Given the description of an element on the screen output the (x, y) to click on. 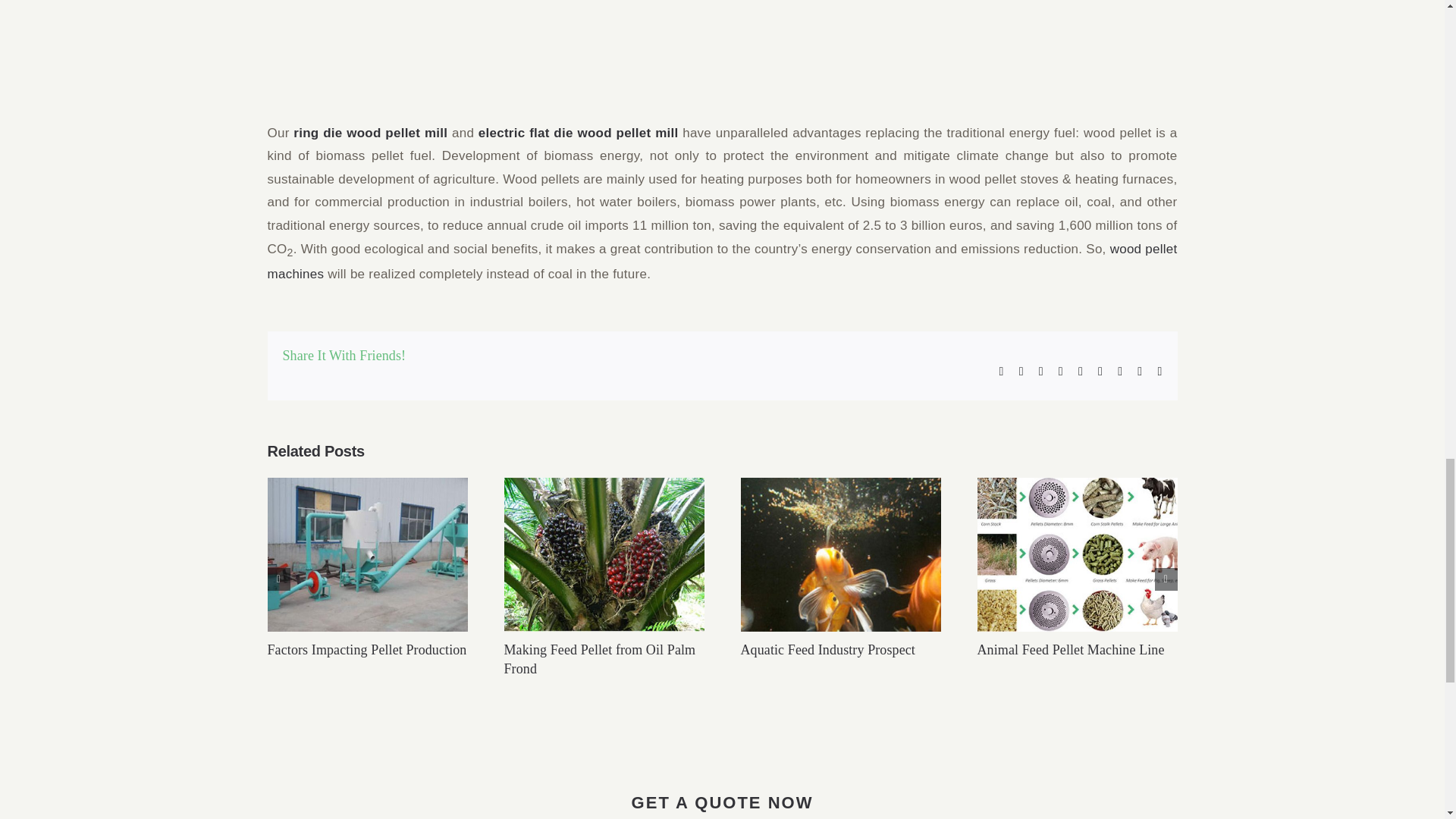
Aquatic Feed Industry Prospect (826, 649)
wood pellet machines (721, 261)
Making Feed Pellet from Oil Palm Frond (599, 659)
Animal Feed Pellet Machine Line (1069, 649)
ring die wood pellet mill (370, 133)
Factors Impacting Pellet Production (365, 649)
electric flat die wood pellet mill (578, 133)
Factors Impacting Pellet Production (365, 649)
Making Feed Pellet from Oil Palm Frond (599, 659)
